Given the description of an element on the screen output the (x, y) to click on. 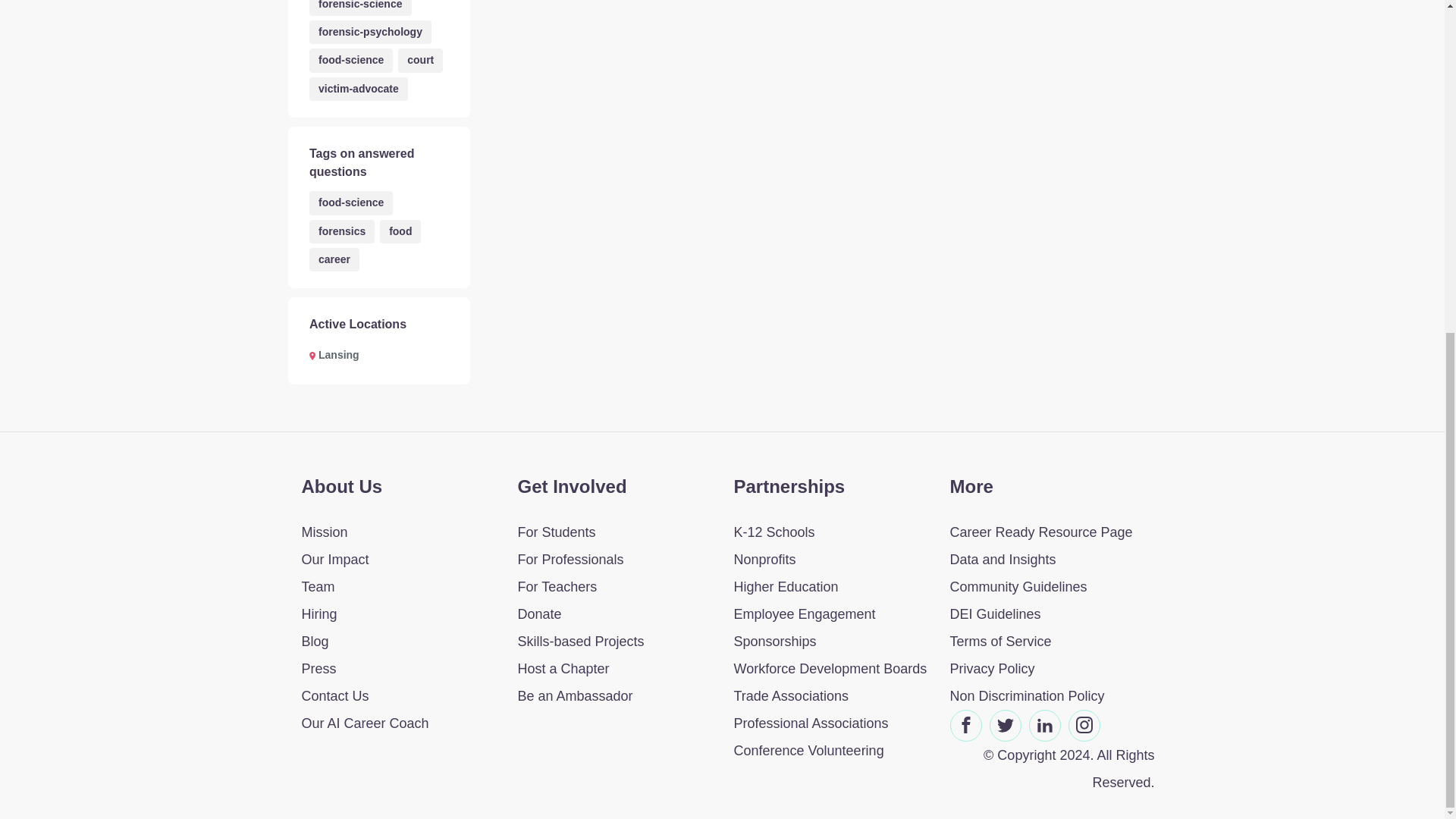
Lansing (333, 354)
See Career Questions tagged 'Food' (400, 231)
food (400, 231)
See Career Questions tagged 'Victim Advocate' (357, 88)
See Career Questions tagged 'Forensics' (341, 231)
career (333, 259)
Mission (398, 532)
forensic-science (360, 7)
See Career Questions tagged 'Food Science' (350, 60)
See Career Questions tagged 'Court' (419, 60)
